Given the description of an element on the screen output the (x, y) to click on. 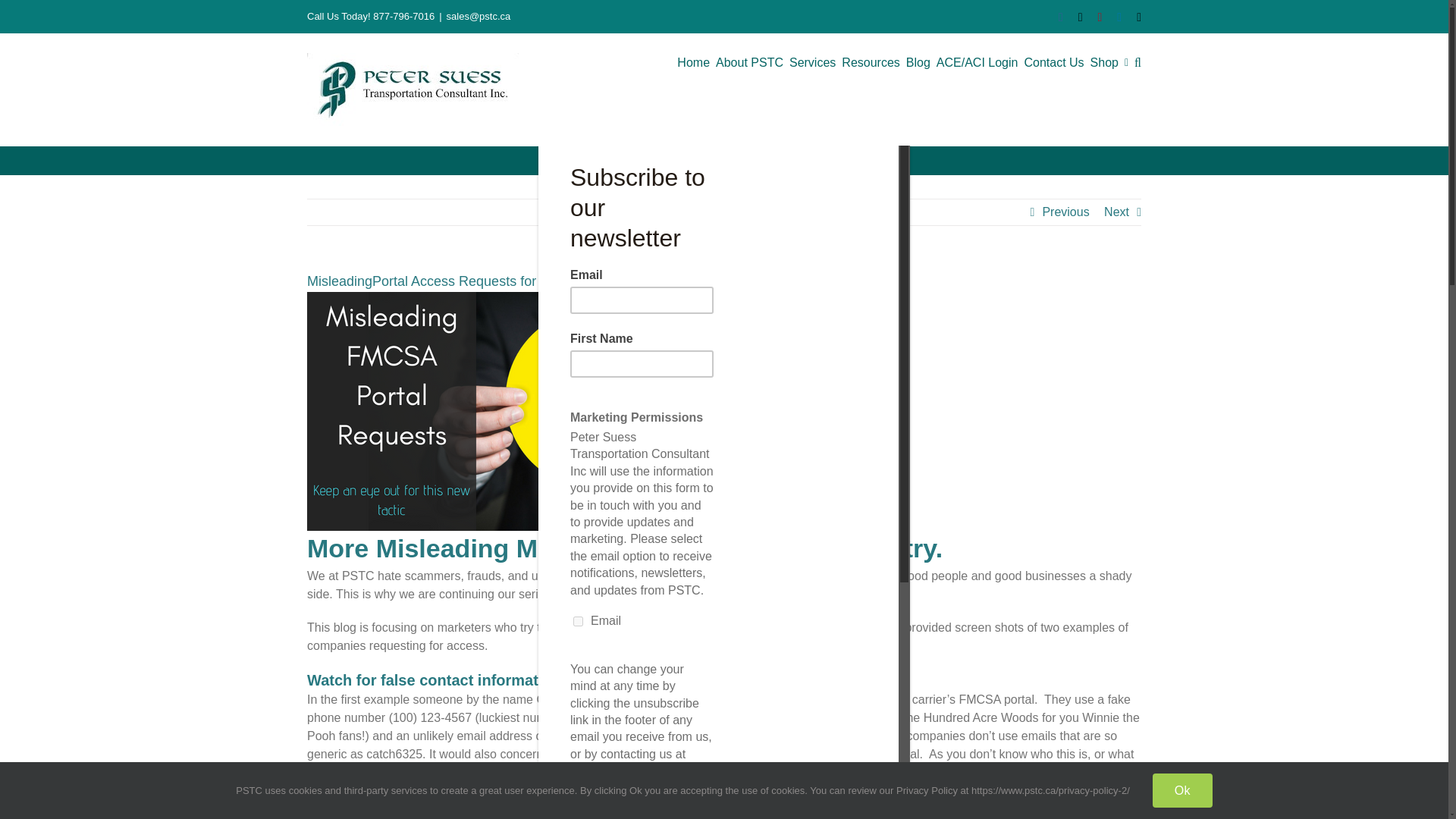
About PSTC (749, 62)
Resources (870, 62)
Blog (917, 62)
Shop (1104, 62)
portal 2 redone (724, 807)
Contact Us (1053, 62)
Services (812, 62)
Home (693, 62)
Misleading portal requests (519, 410)
